Given the description of an element on the screen output the (x, y) to click on. 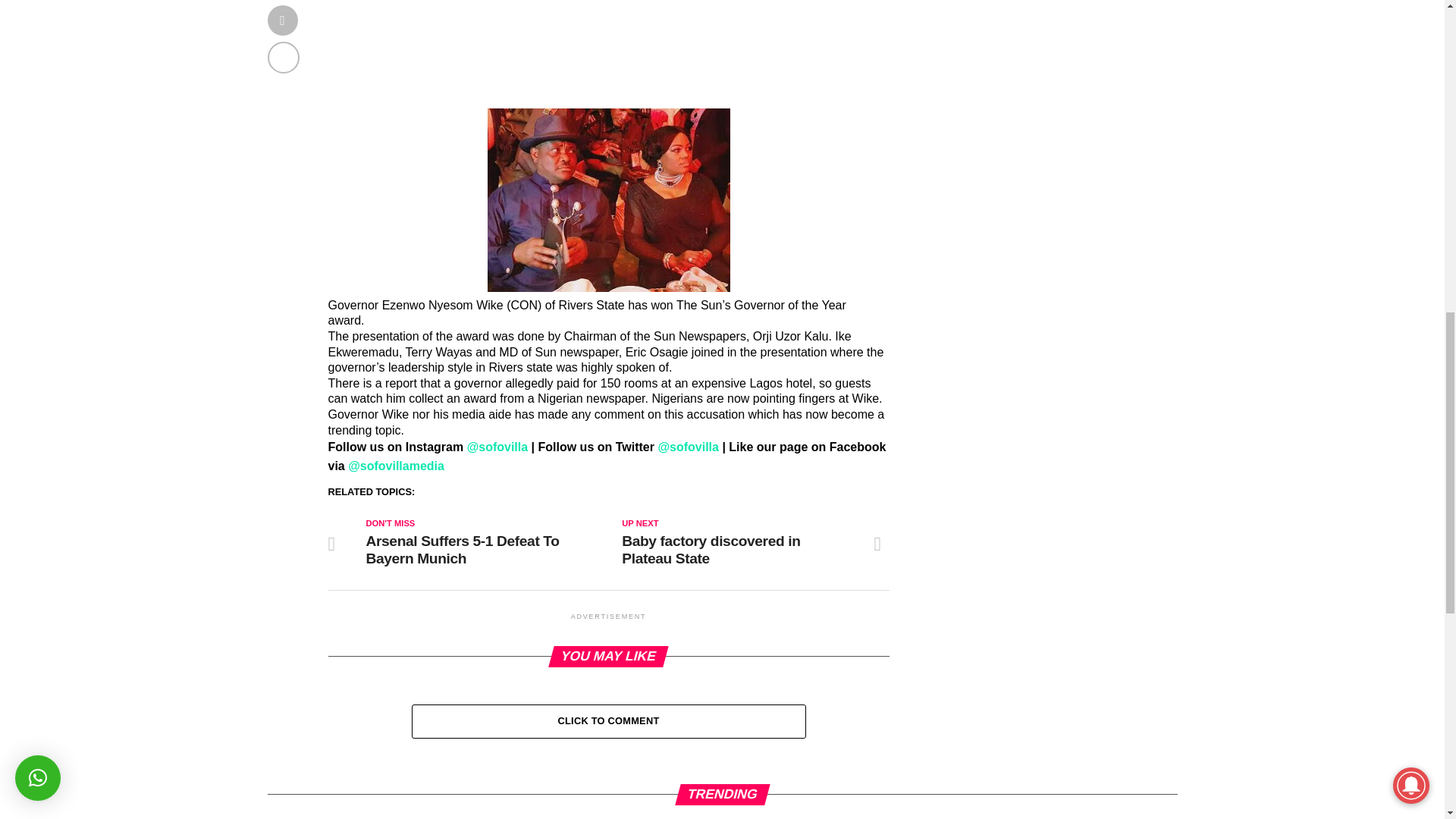
Advertisement (607, 54)
